Given the description of an element on the screen output the (x, y) to click on. 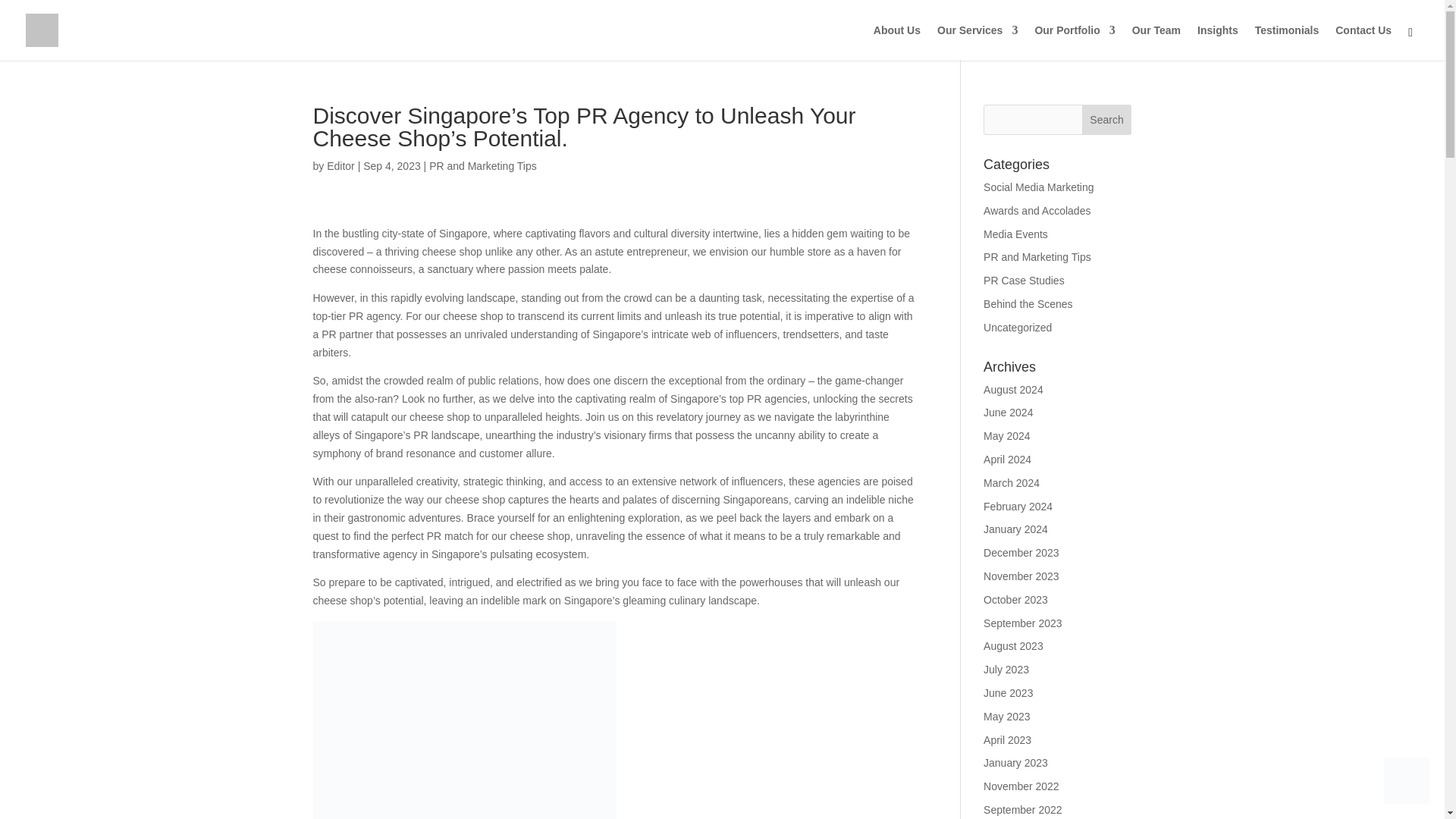
Media Events (1016, 234)
Behind the Scenes (1028, 304)
Editor (340, 165)
Insights (1217, 42)
Contact Us (1363, 42)
PR and Marketing Tips (1037, 256)
Social Media Marketing (1039, 186)
Search (1106, 119)
Our Services (977, 42)
Our Portfolio (1074, 42)
